Given the description of an element on the screen output the (x, y) to click on. 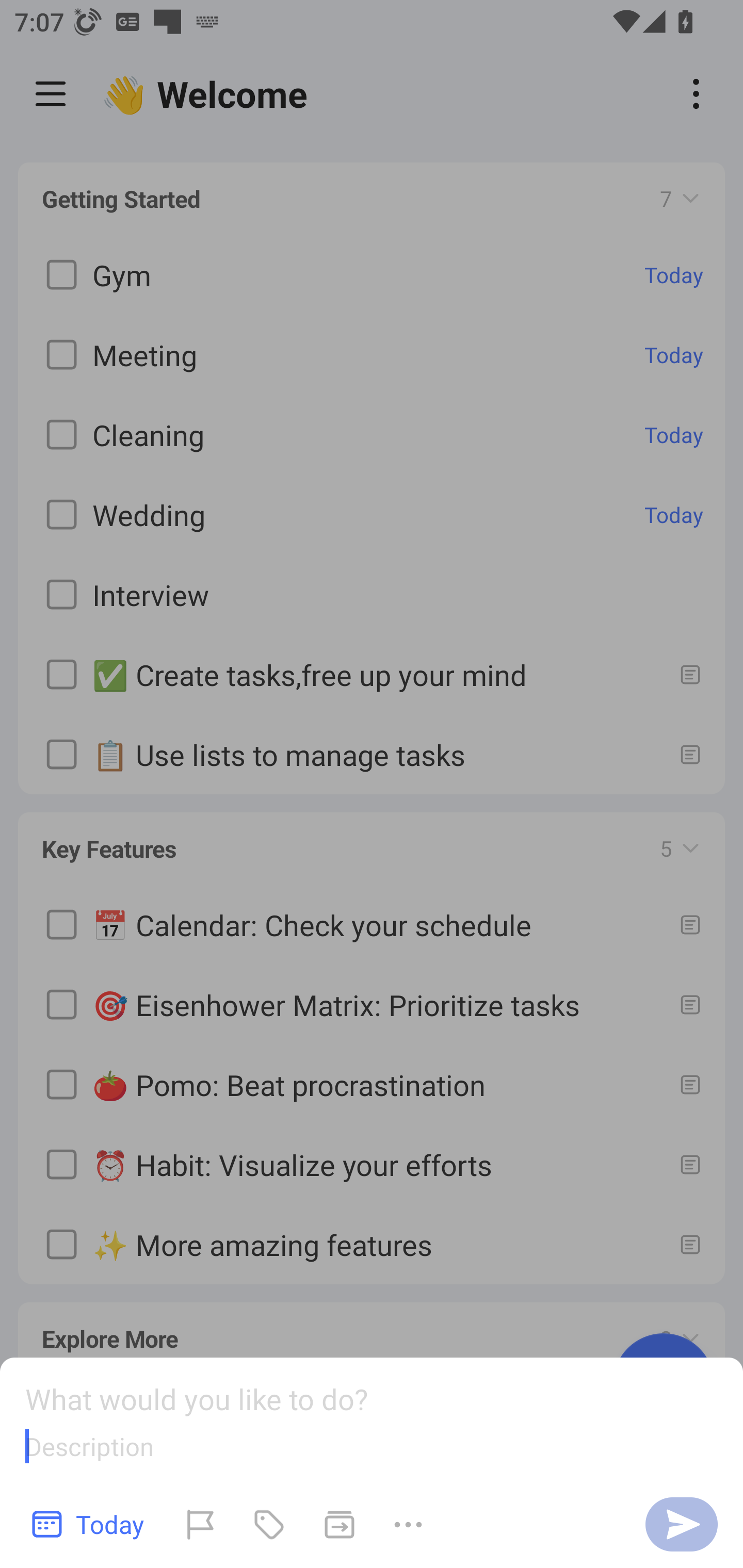
What would you like to do? Description Today (371, 1462)
Today (88, 1523)
